Given the description of an element on the screen output the (x, y) to click on. 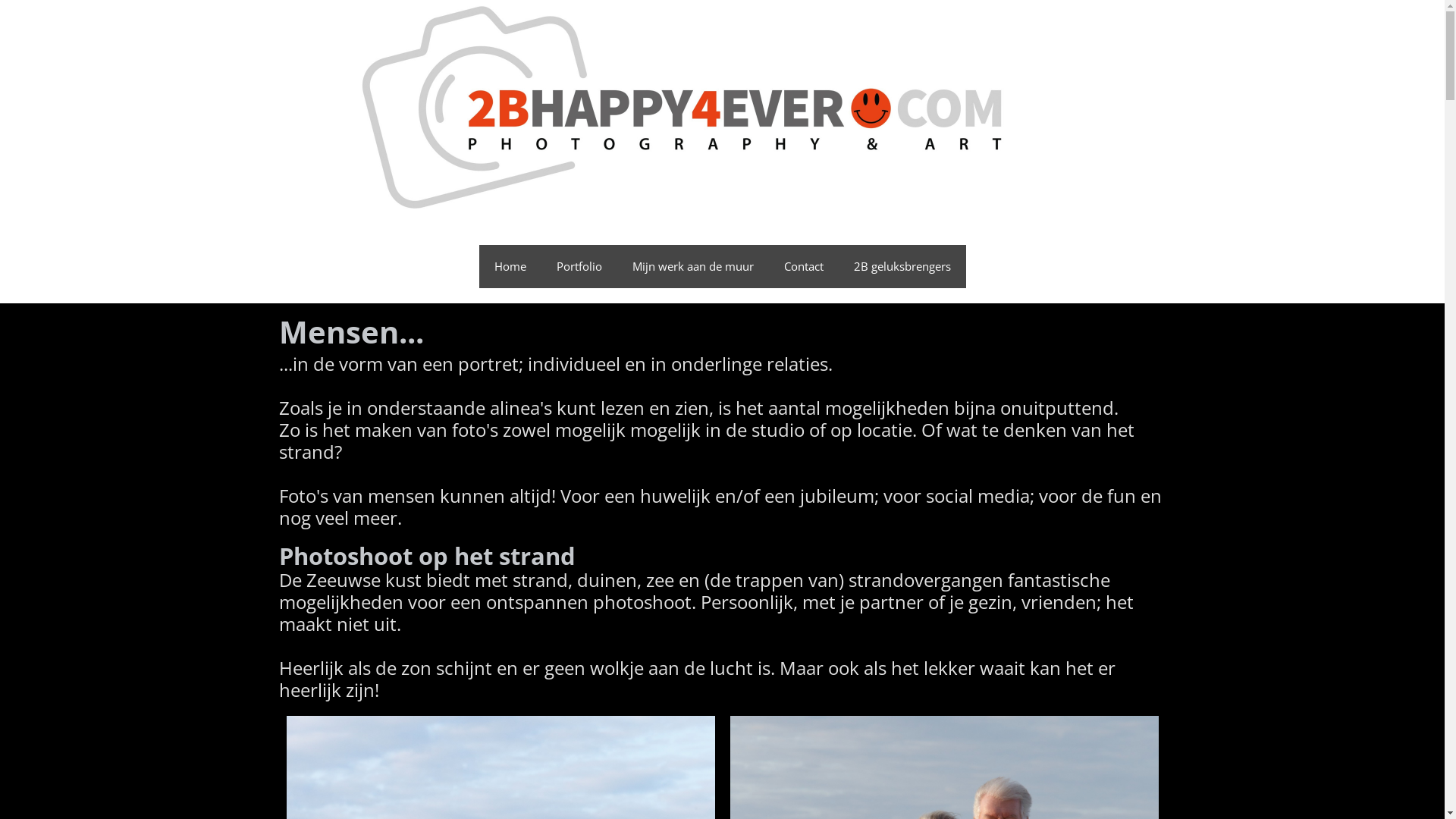
Mijn werk aan de muur Element type: text (692, 266)
Contact Element type: text (803, 266)
Portfolio Element type: text (579, 266)
Home Element type: text (510, 266)
2B geluksbrengers Element type: text (902, 266)
Ga naar de homepage Element type: hover (722, 107)
